Given the description of an element on the screen output the (x, y) to click on. 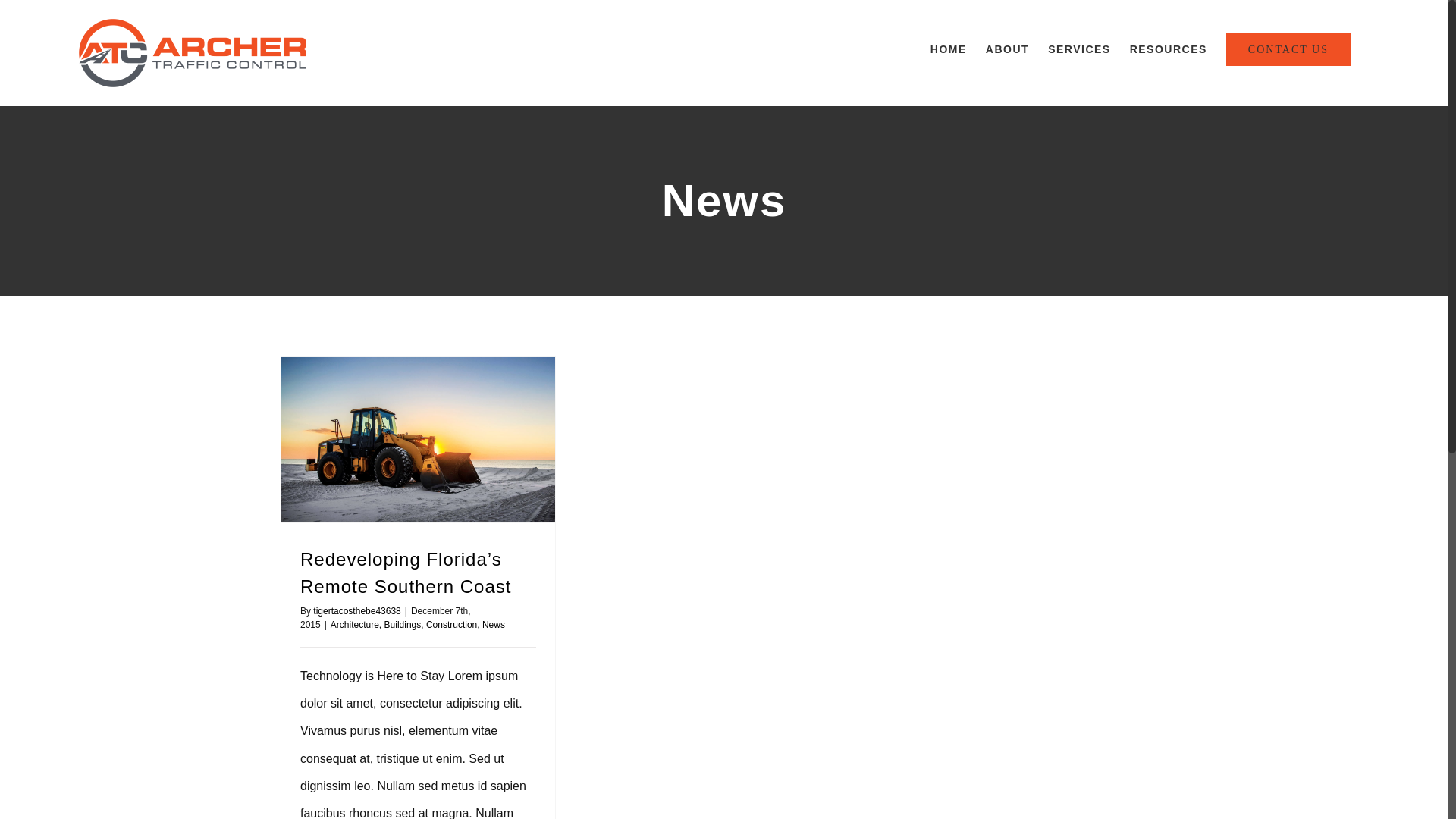
Architecture Element type: text (354, 624)
News Element type: text (493, 624)
ABOUT Element type: text (1007, 49)
SERVICES Element type: text (1079, 49)
RESOURCES Element type: text (1168, 49)
CONTACT US Element type: text (1288, 49)
HOME Element type: text (948, 49)
Construction Element type: text (451, 624)
Buildings Element type: text (402, 624)
tigertacosthebe43638 Element type: text (356, 610)
